Given the description of an element on the screen output the (x, y) to click on. 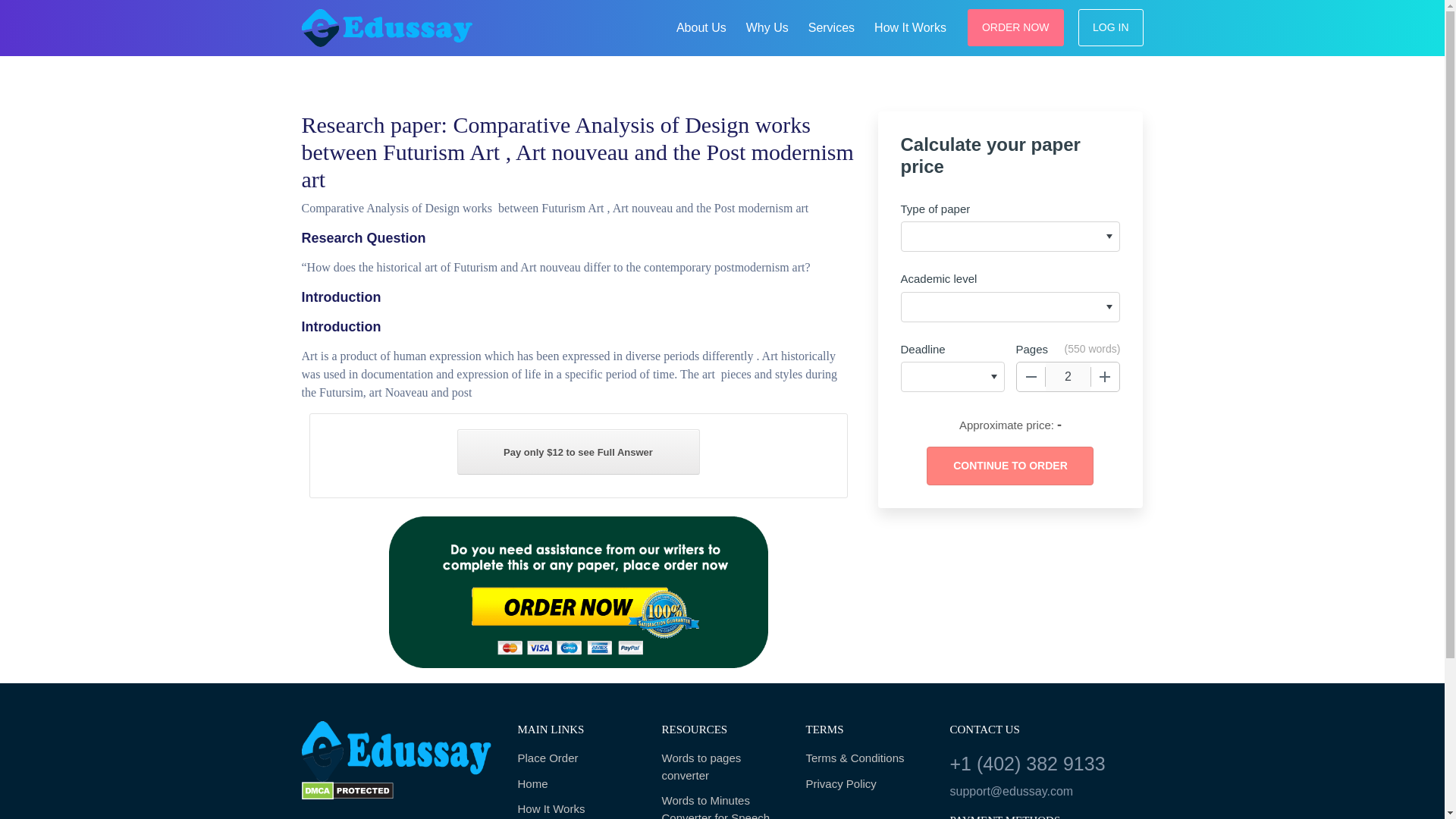
Services (831, 26)
Continue to order (1009, 465)
Words to pages converter (722, 767)
Why Us (766, 26)
About Us (700, 26)
Why Us (766, 26)
Home (577, 784)
2 (1067, 376)
About Us (700, 26)
Continue to order (1009, 465)
Decrease (1030, 376)
Privacy Policy (865, 784)
Increase (1104, 376)
Words to pages converter (722, 767)
ORDER NOW (1016, 27)
